Given the description of an element on the screen output the (x, y) to click on. 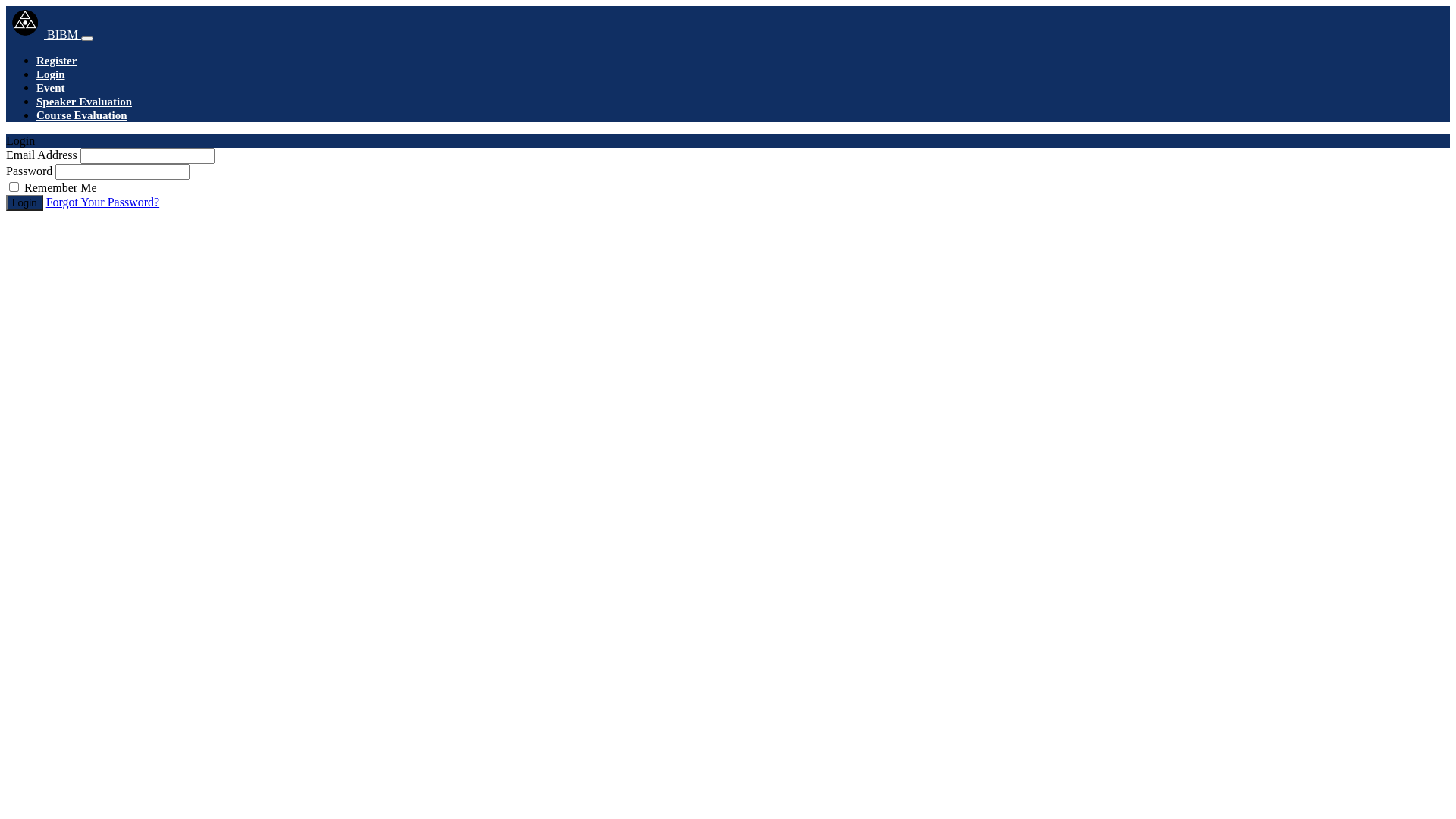
Forgot Your Password? Element type: text (103, 201)
BIBM Element type: text (43, 34)
Speaker Evaluation Element type: text (83, 101)
Login Element type: text (24, 202)
Course Evaluation Element type: text (81, 115)
Register Element type: text (56, 60)
Event Element type: text (50, 87)
Login Element type: text (50, 74)
